Given the description of an element on the screen output the (x, y) to click on. 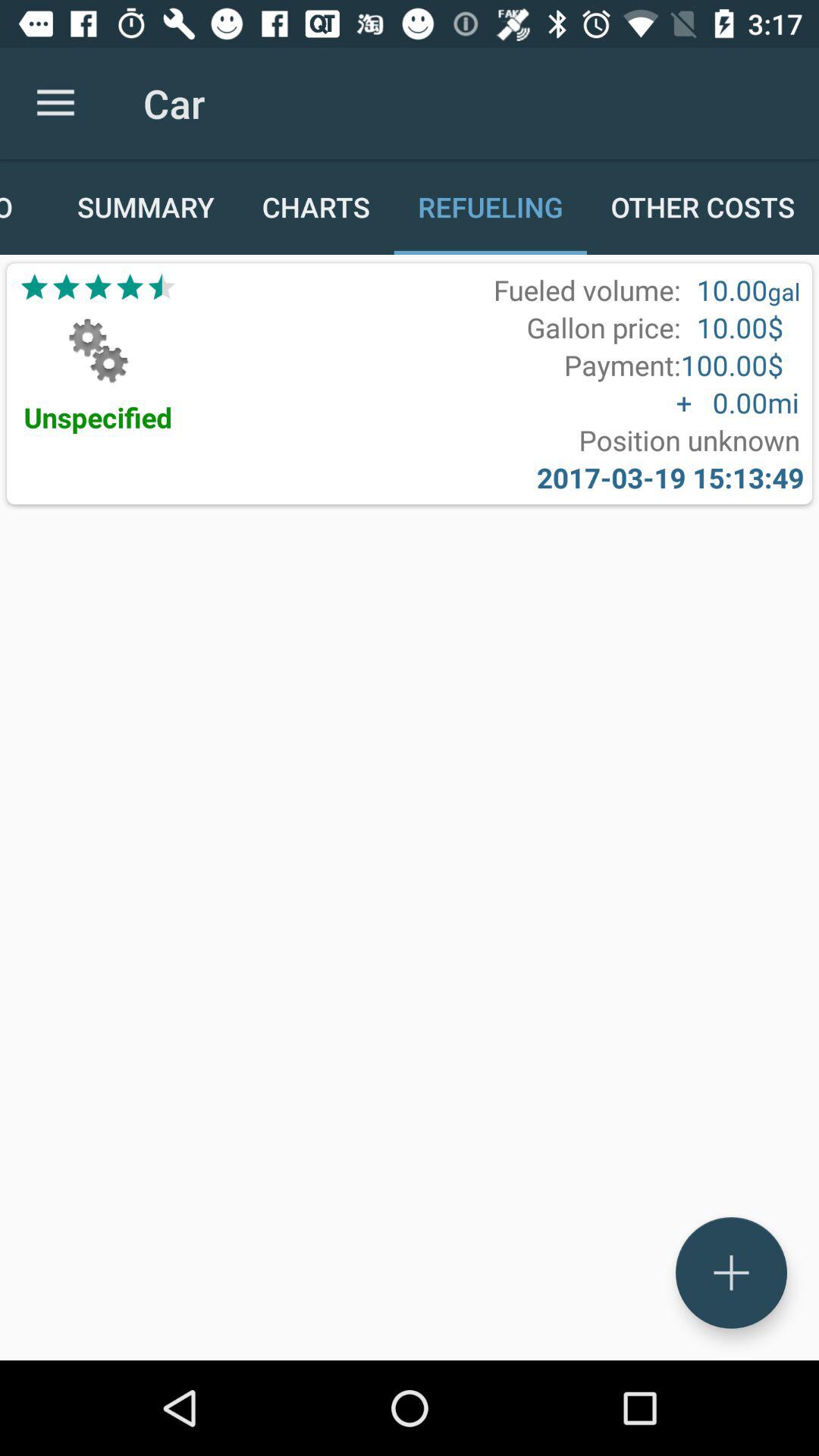
flip to mi icon (783, 402)
